Given the description of an element on the screen output the (x, y) to click on. 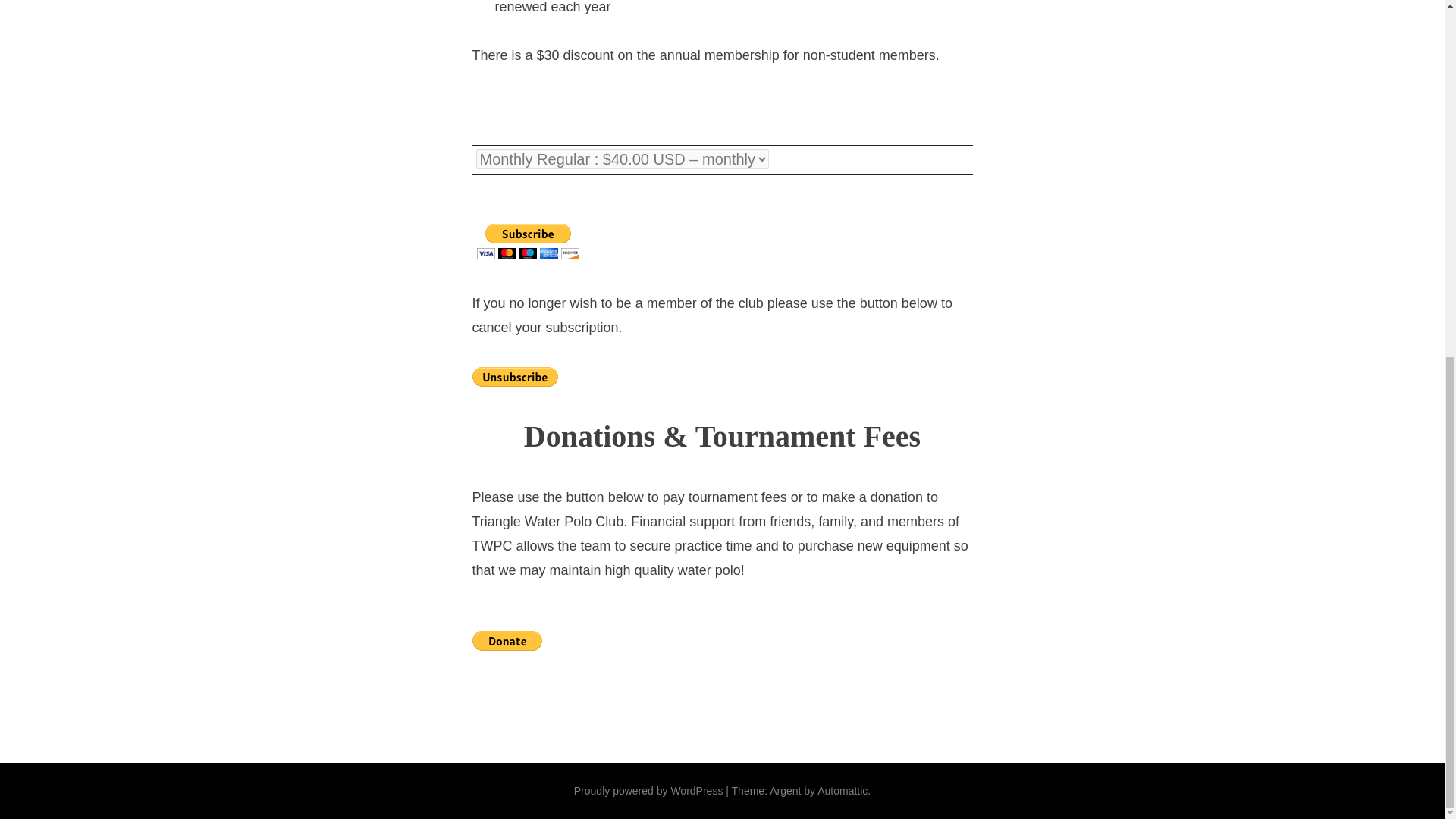
Automattic (841, 790)
Proudly powered by WordPress (648, 790)
PayPal - The safer, easier way to pay online! (506, 640)
